Given the description of an element on the screen output the (x, y) to click on. 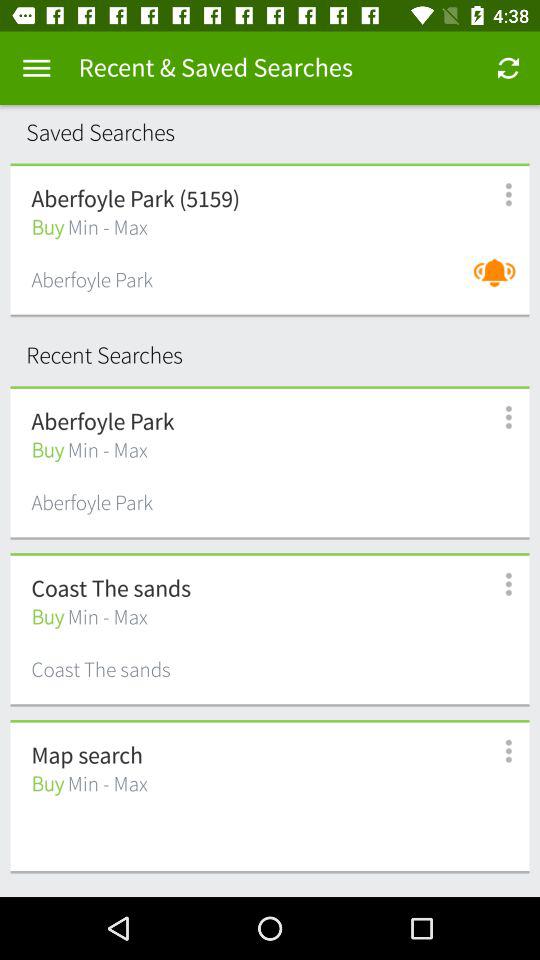
select map search icon (86, 756)
